Given the description of an element on the screen output the (x, y) to click on. 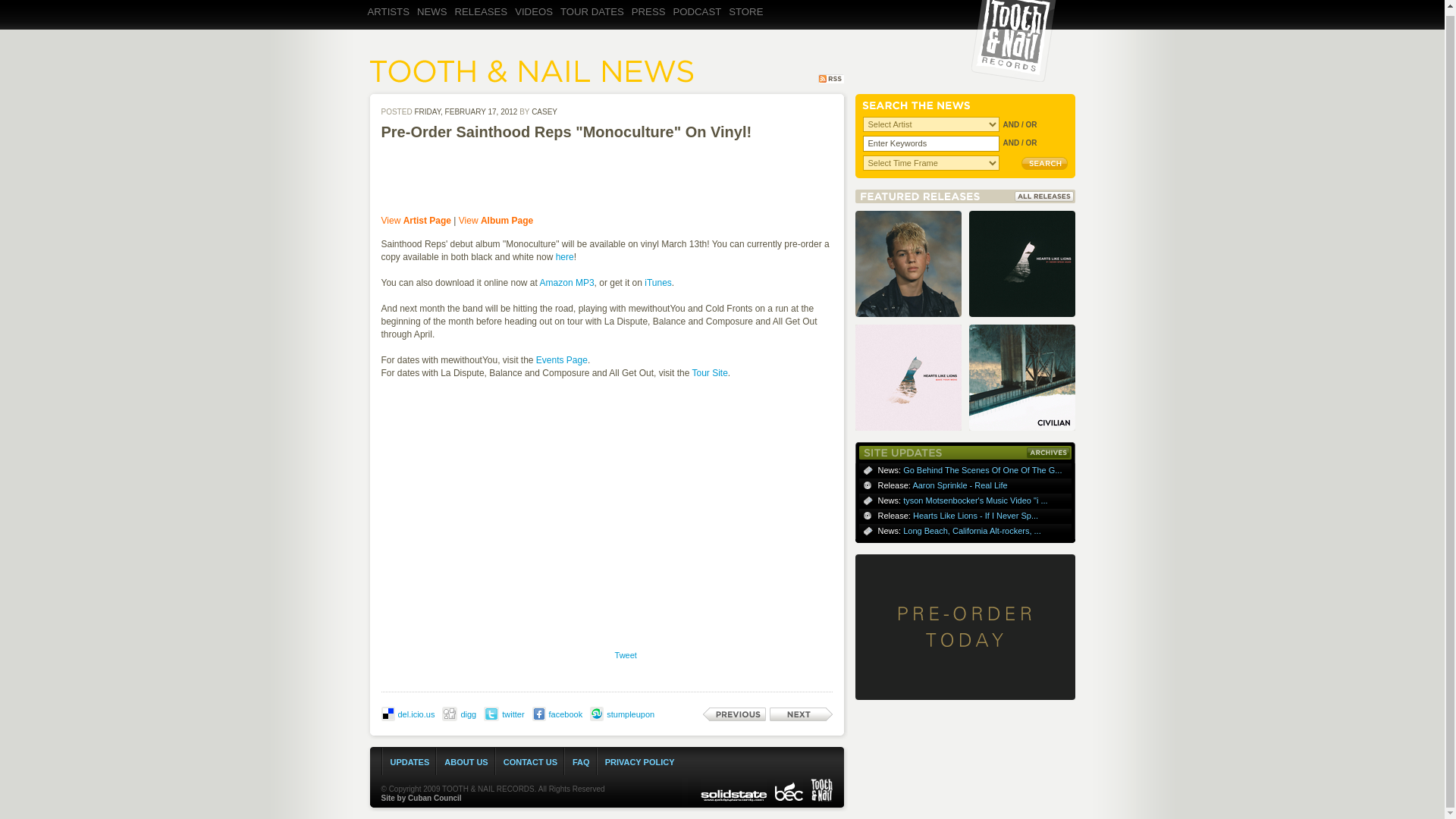
digg (468, 714)
Events Page (561, 359)
ABOUT US (465, 761)
PODCAST (699, 23)
NEWS (433, 23)
facebook (565, 714)
iTunes (658, 282)
TOUR DATES (594, 23)
FAQ (580, 761)
Site by Cuban Council (420, 797)
RELEASES (482, 23)
PRIVACY POLICY (640, 761)
CONTACT US (530, 761)
Amazon MP3 (567, 282)
VIDEOS (536, 23)
